Given the description of an element on the screen output the (x, y) to click on. 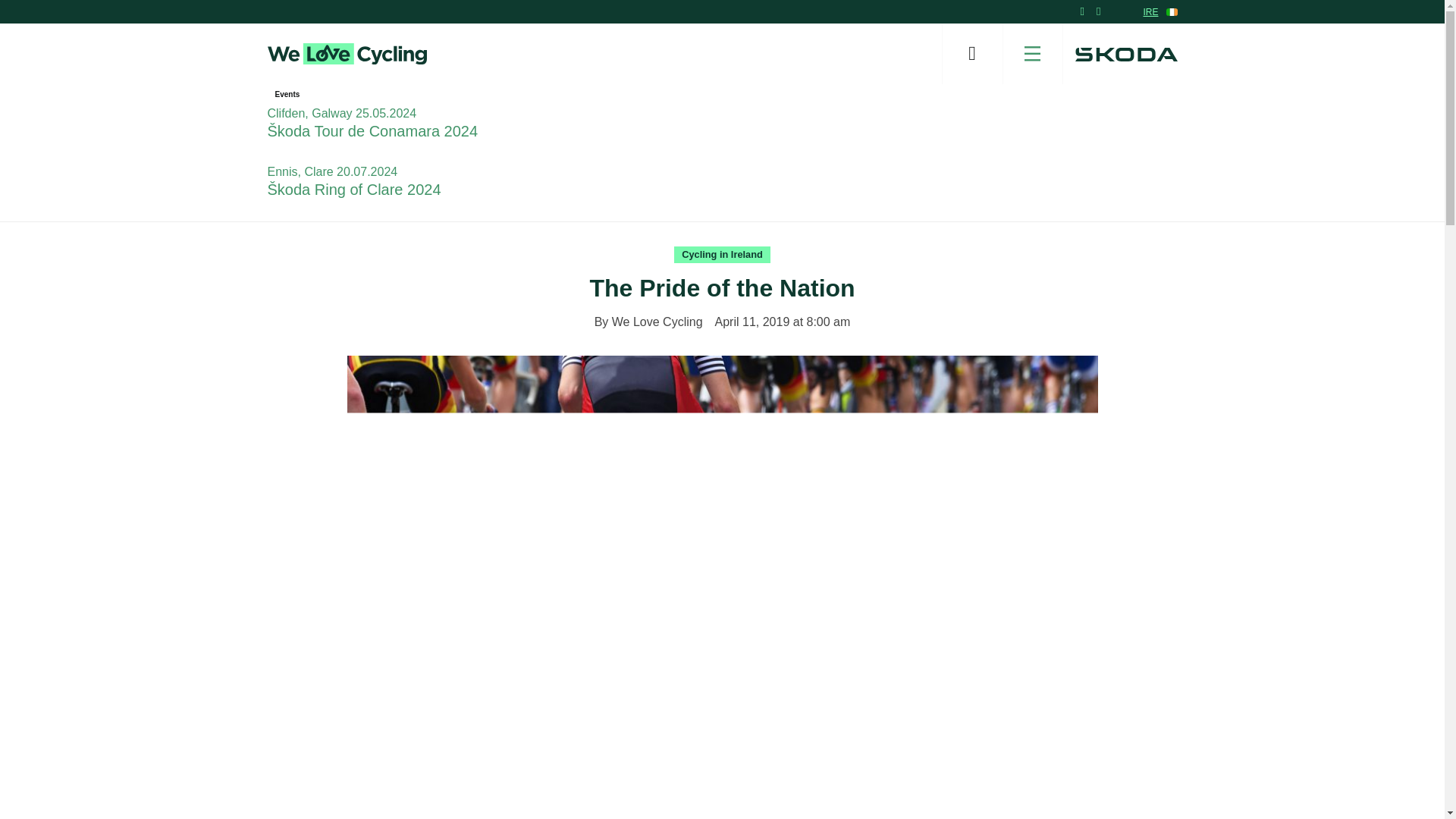
Menu (1032, 53)
We Love Cycling - Ireland (346, 53)
